Given the description of an element on the screen output the (x, y) to click on. 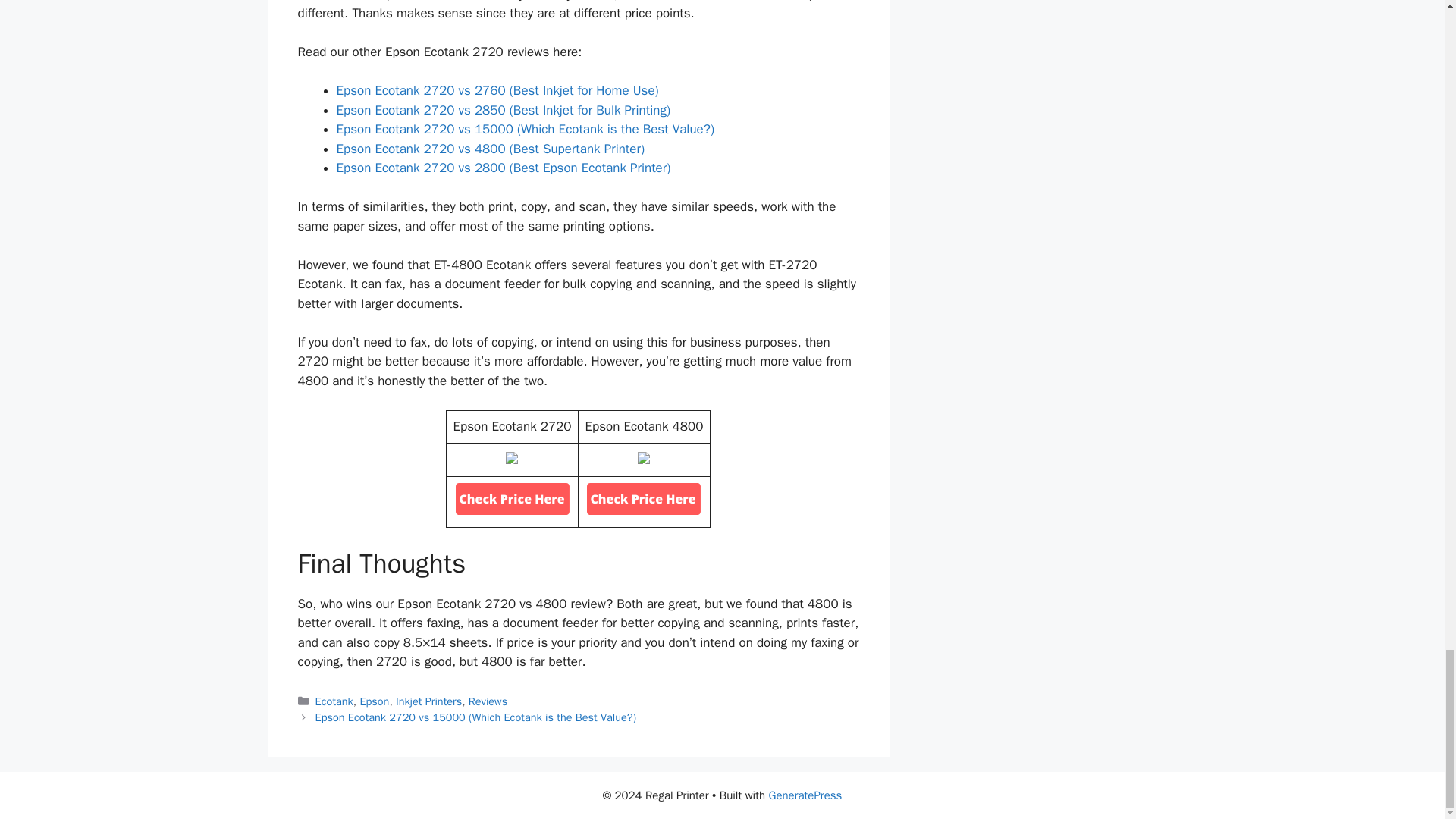
Inkjet Printers (428, 701)
Epson (373, 701)
Ecotank (334, 701)
Reviews (487, 701)
